Given the description of an element on the screen output the (x, y) to click on. 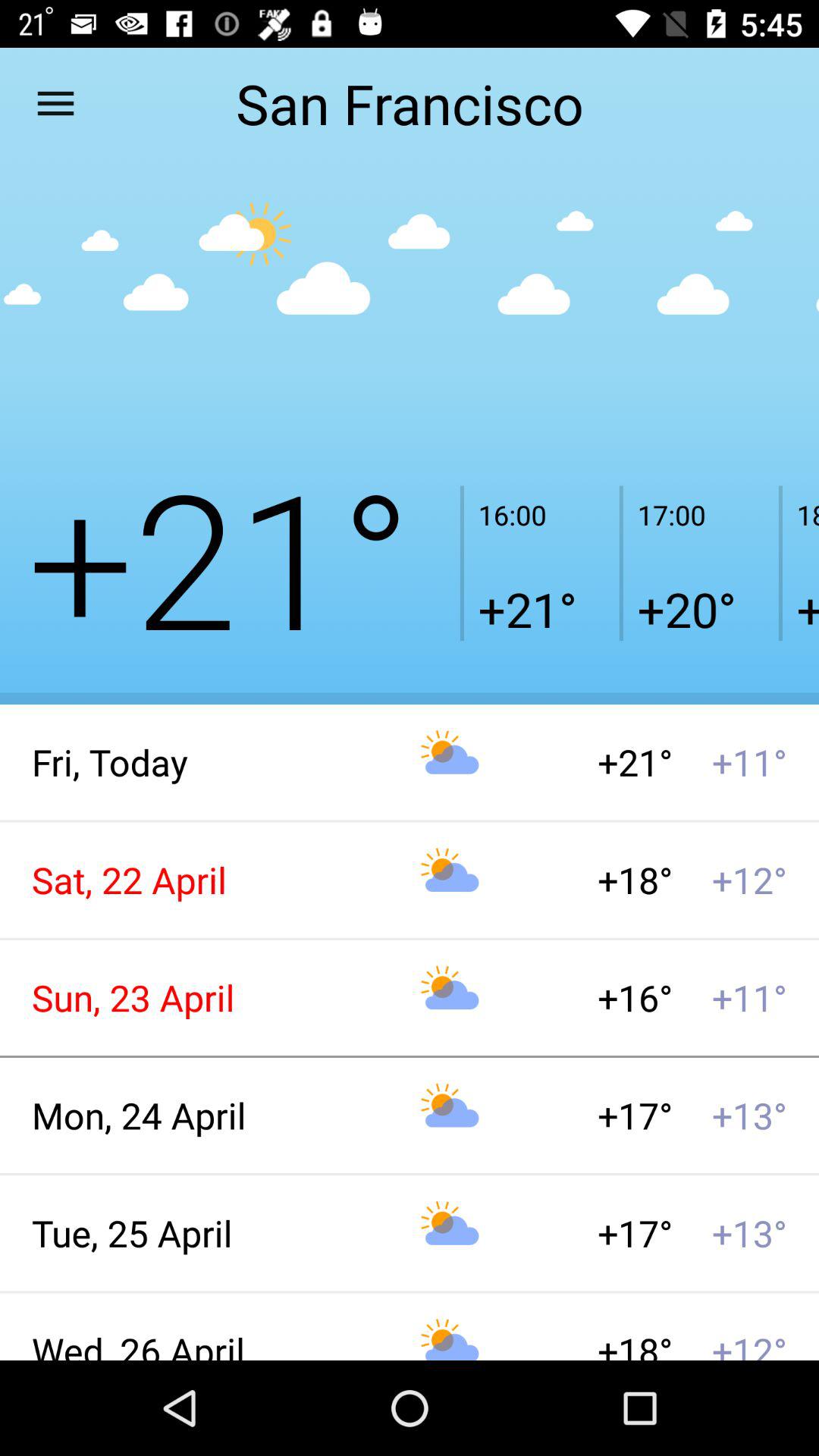
launch the san francisco item (409, 103)
